Given the description of an element on the screen output the (x, y) to click on. 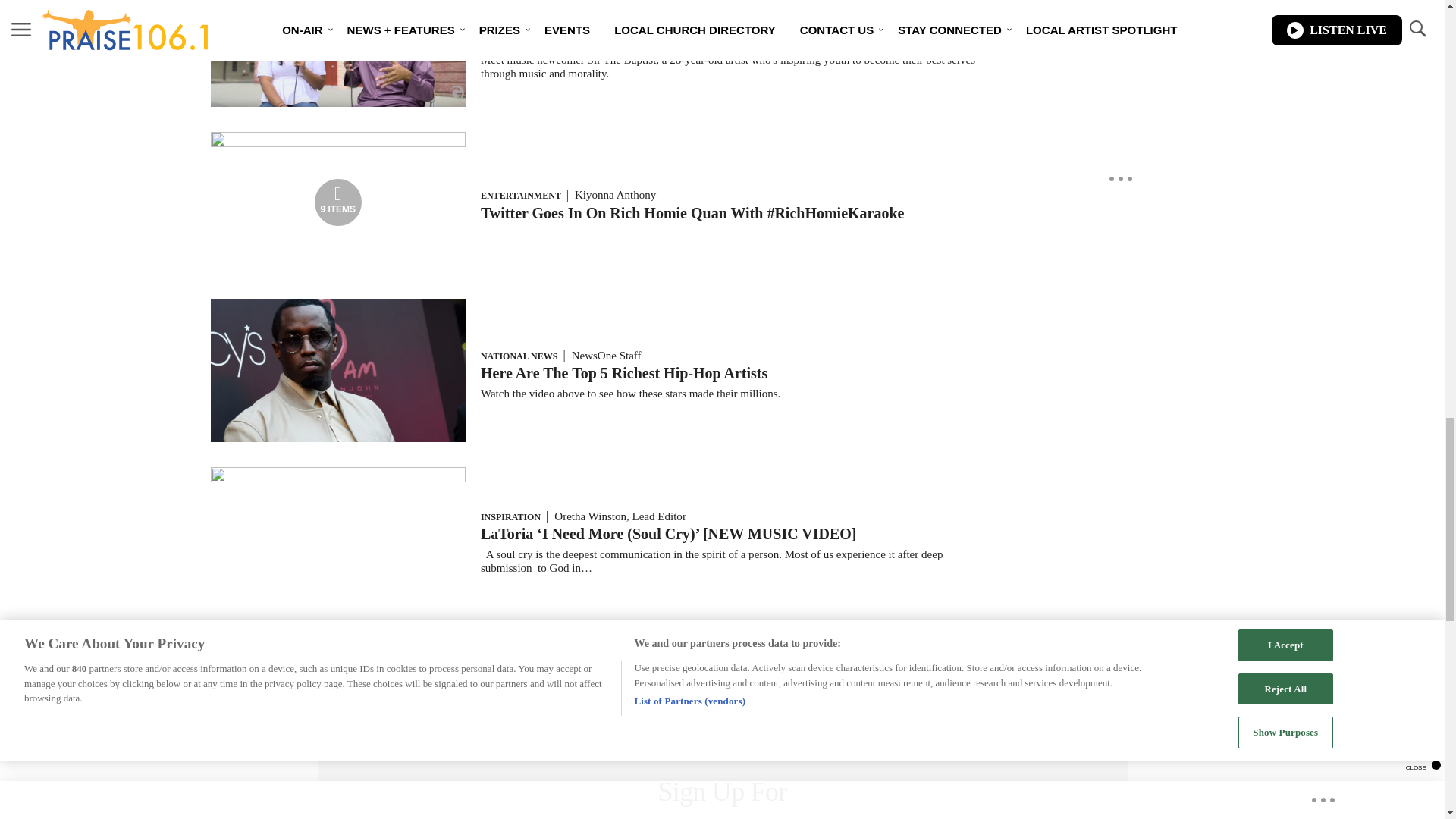
Media Playlist (338, 202)
